Given the description of an element on the screen output the (x, y) to click on. 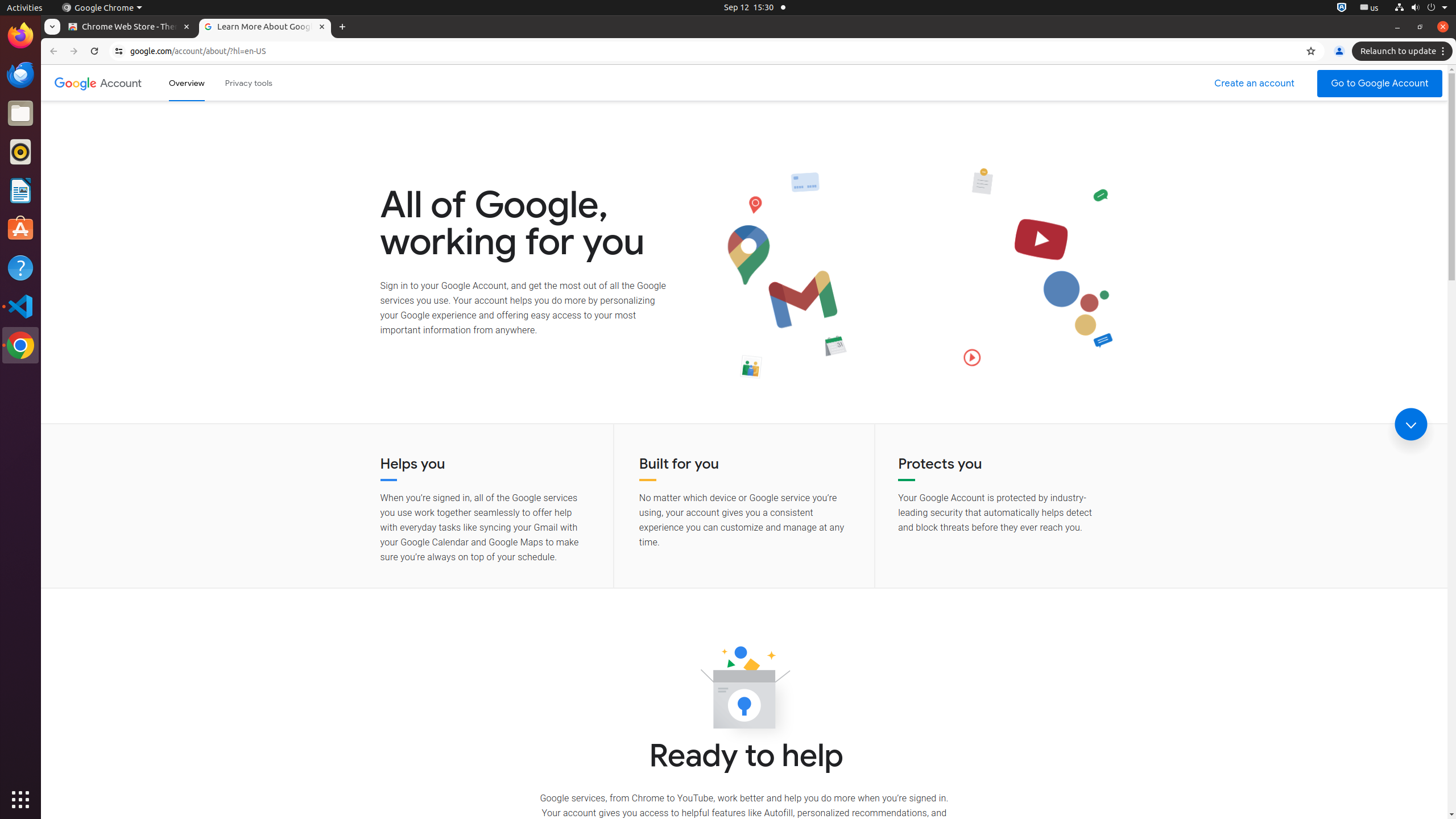
System Element type: menu (1420, 7)
Jump link Element type: link (1410, 423)
Privacy tools Element type: link (248, 82)
:1.72/StatusNotifierItem Element type: menu (1341, 7)
